Given the description of an element on the screen output the (x, y) to click on. 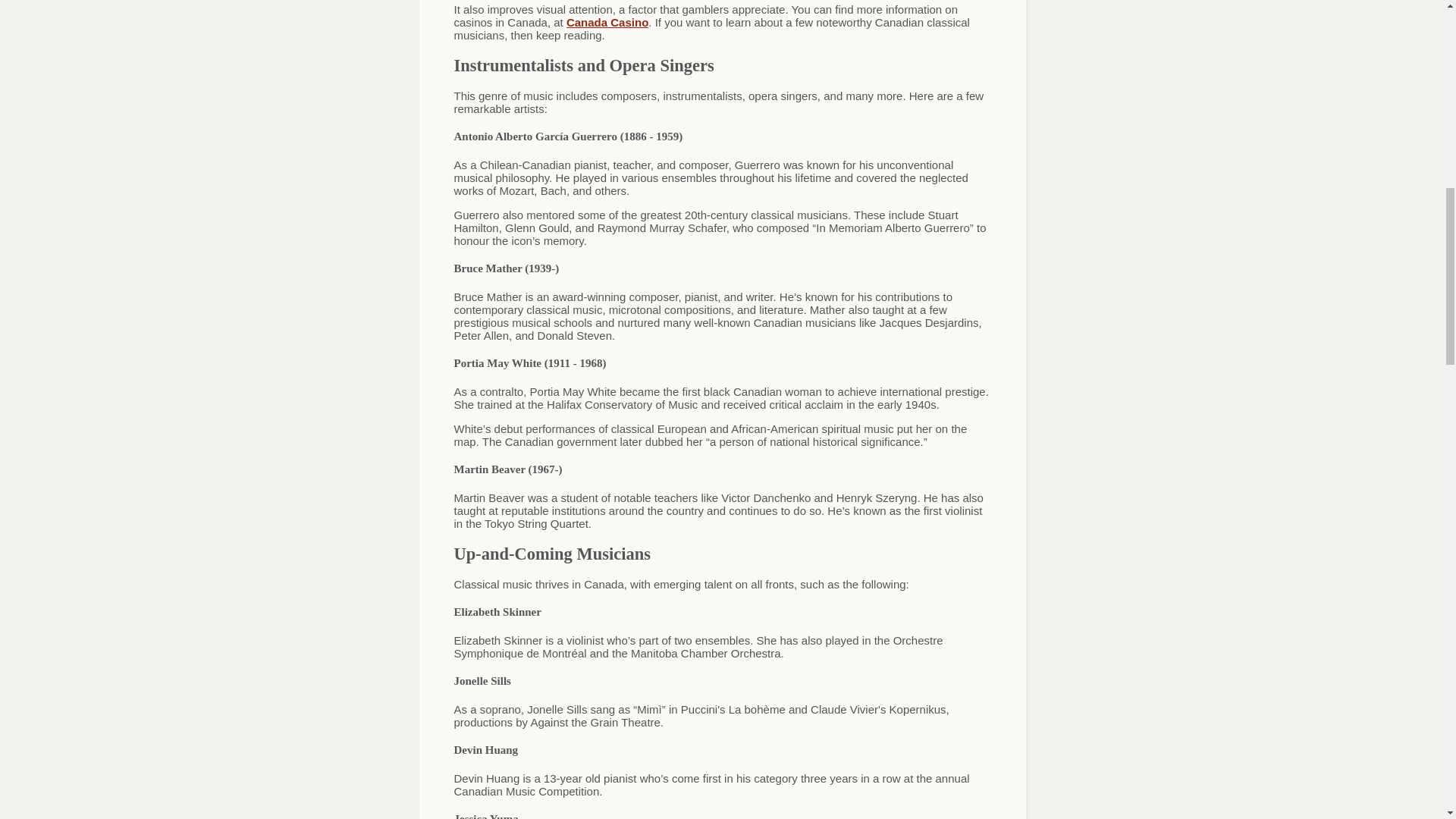
Canada Casino (606, 21)
